Given the description of an element on the screen output the (x, y) to click on. 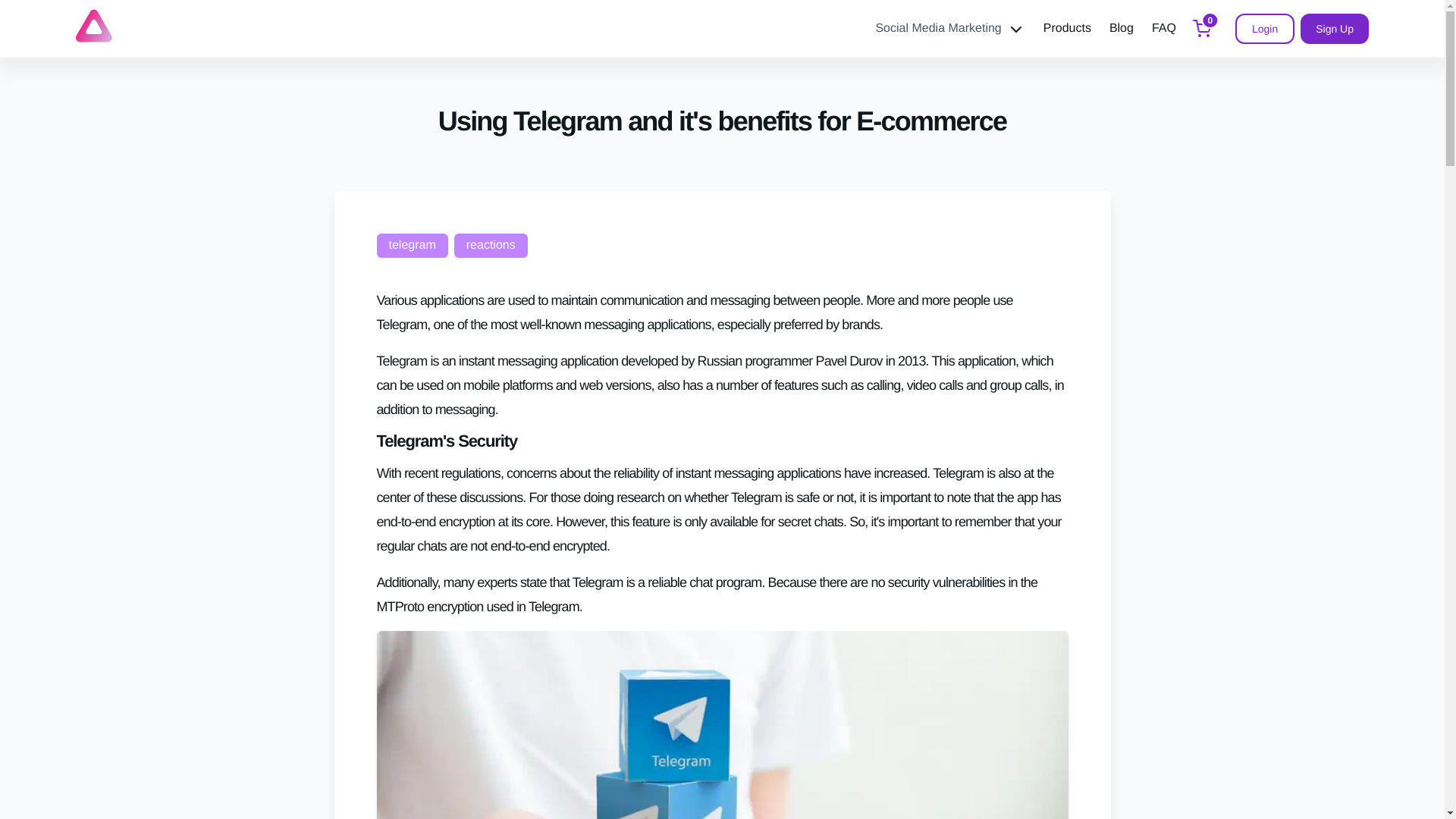
Social Media Marketing (950, 28)
Sign Up (1334, 28)
Login (1264, 28)
Expensivethanfree Logo (93, 25)
0 (1201, 28)
